Given the description of an element on the screen output the (x, y) to click on. 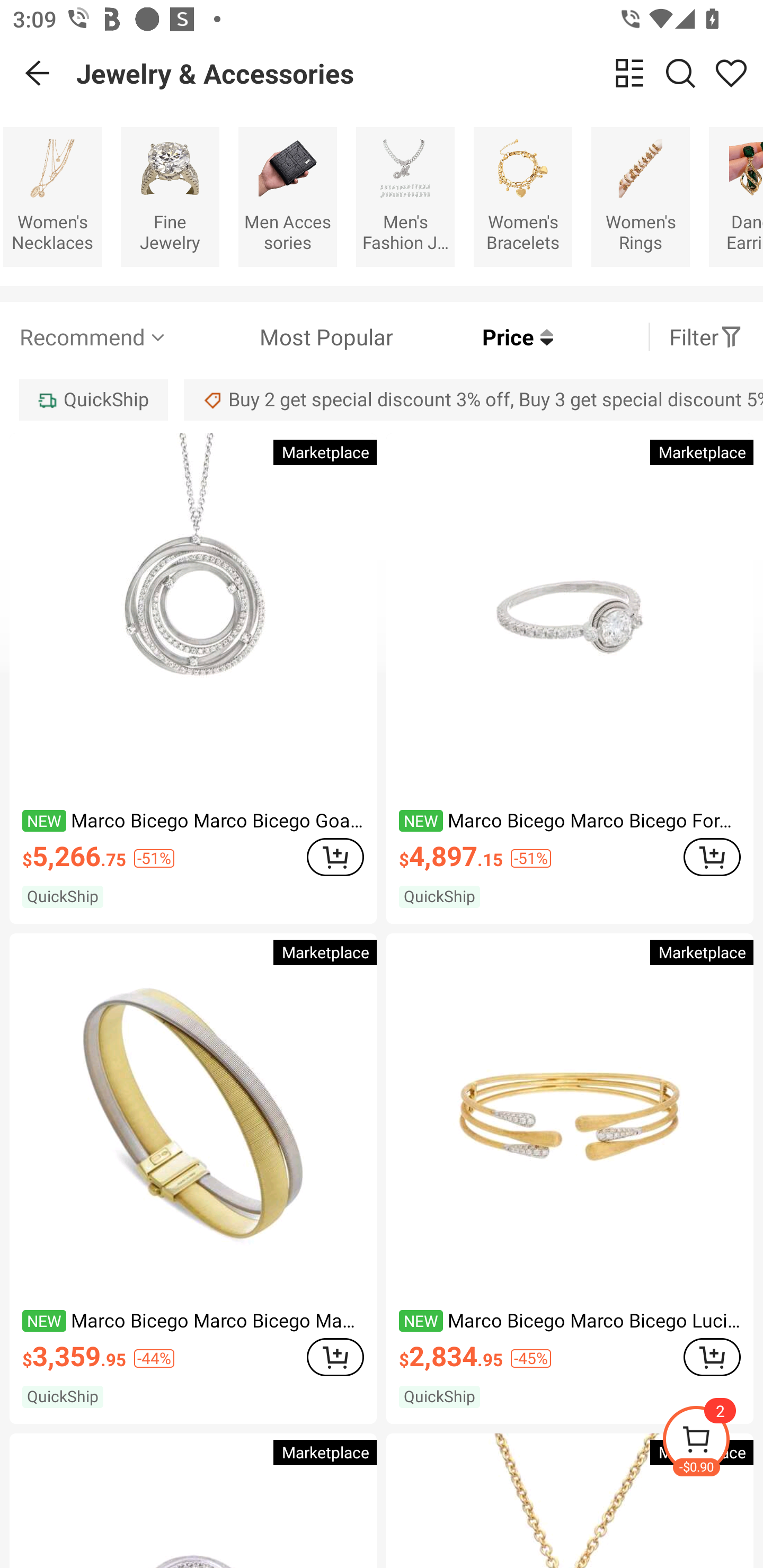
Jewelry & Accessories change view Search Share (419, 72)
change view (629, 72)
Search (679, 72)
Share (730, 72)
Women's Necklaces (52, 196)
Fine Jewelry (169, 196)
Men Accessories (287, 196)
Men's Fashion Jewelry (405, 196)
Women's Bracelets (522, 196)
Women's Rings (640, 196)
Recommend (93, 336)
Most Popular (280, 336)
Price (472, 336)
Filter (705, 336)
QuickShip (93, 399)
ADD TO CART (334, 856)
ADD TO CART (711, 856)
ADD TO CART (334, 1356)
ADD TO CART (711, 1356)
-$0.90 (712, 1441)
